Given the description of an element on the screen output the (x, y) to click on. 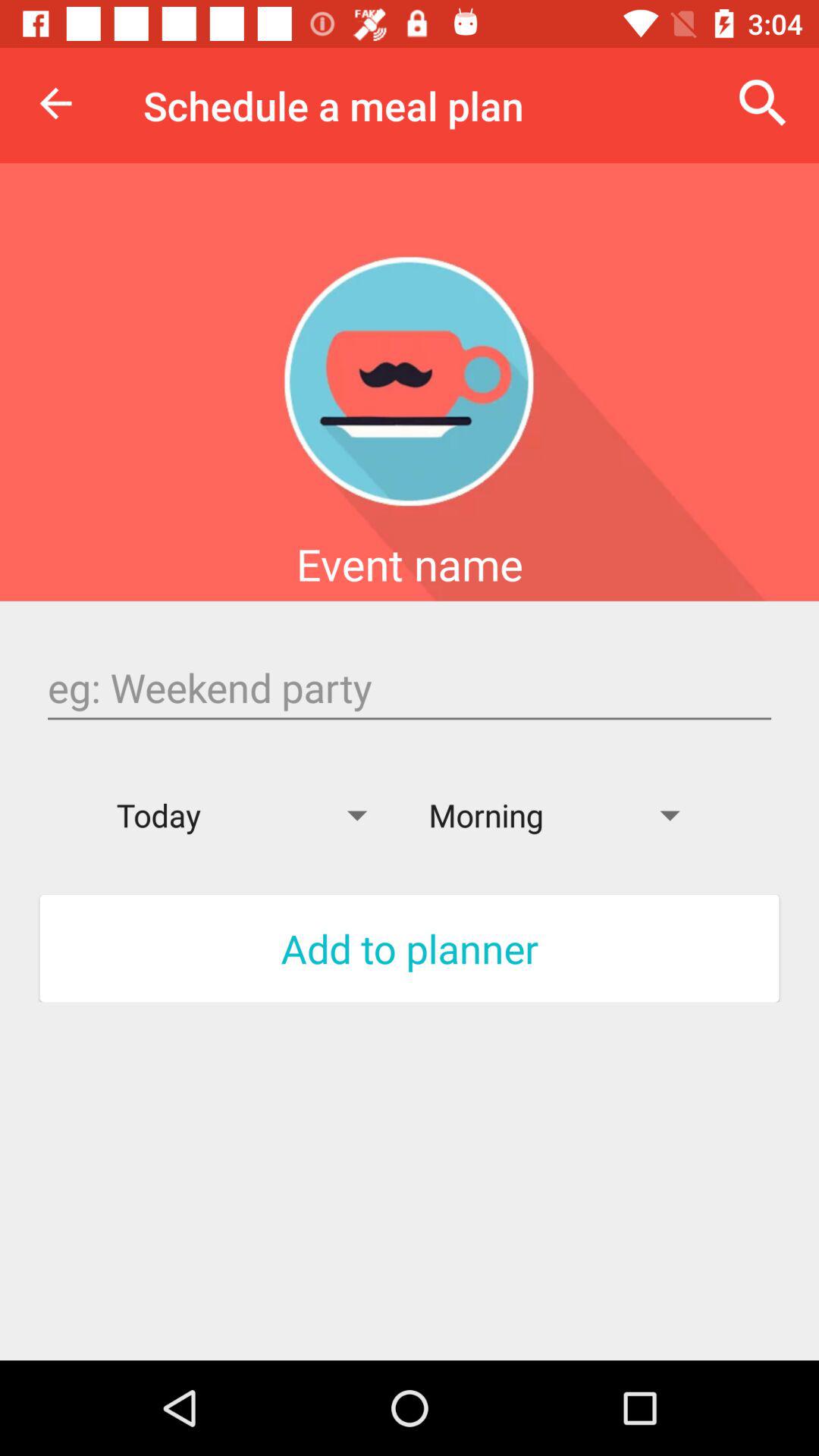
text box to enter the name of the event (409, 687)
